Given the description of an element on the screen output the (x, y) to click on. 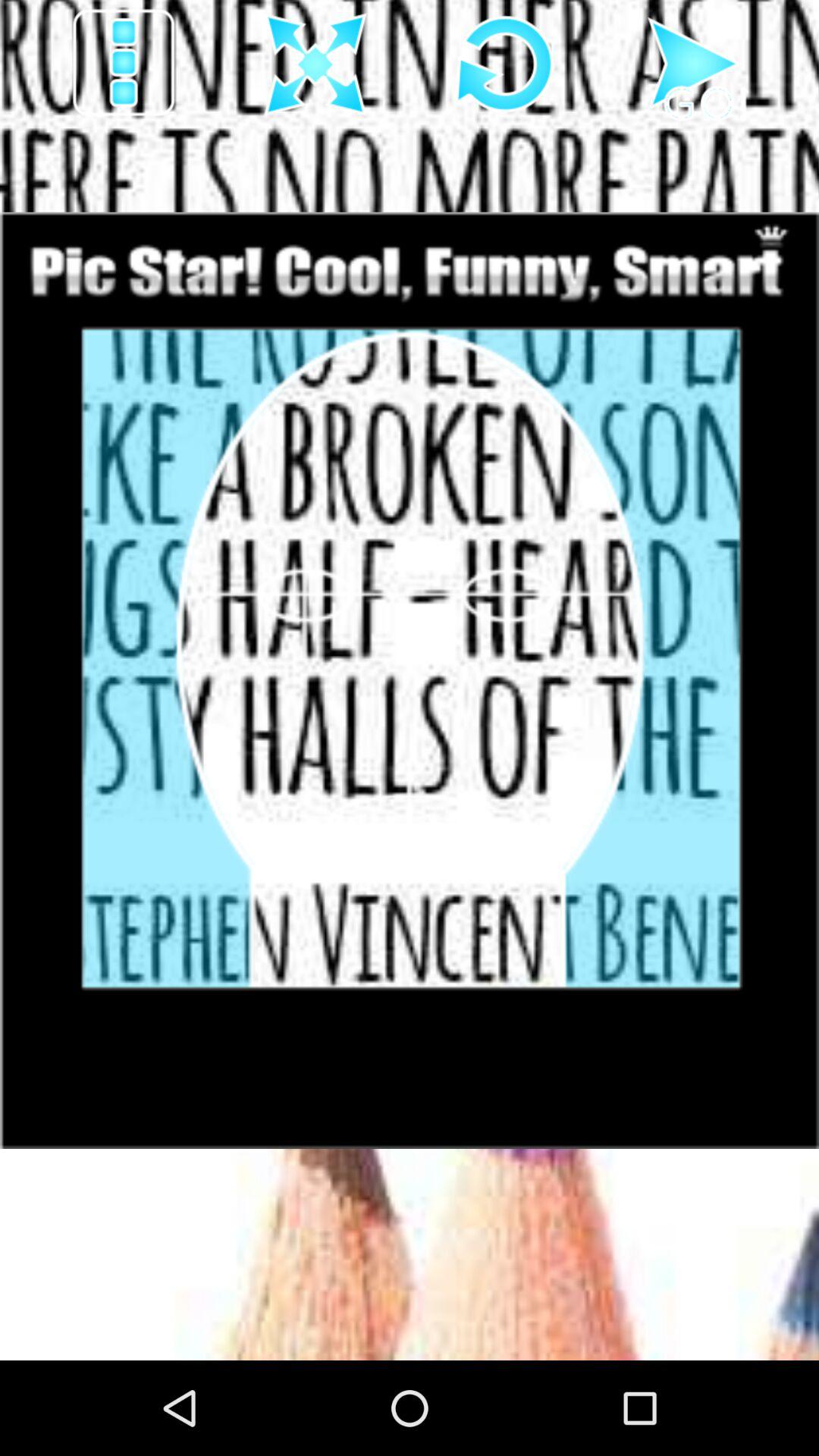
more option (125, 64)
